Given the description of an element on the screen output the (x, y) to click on. 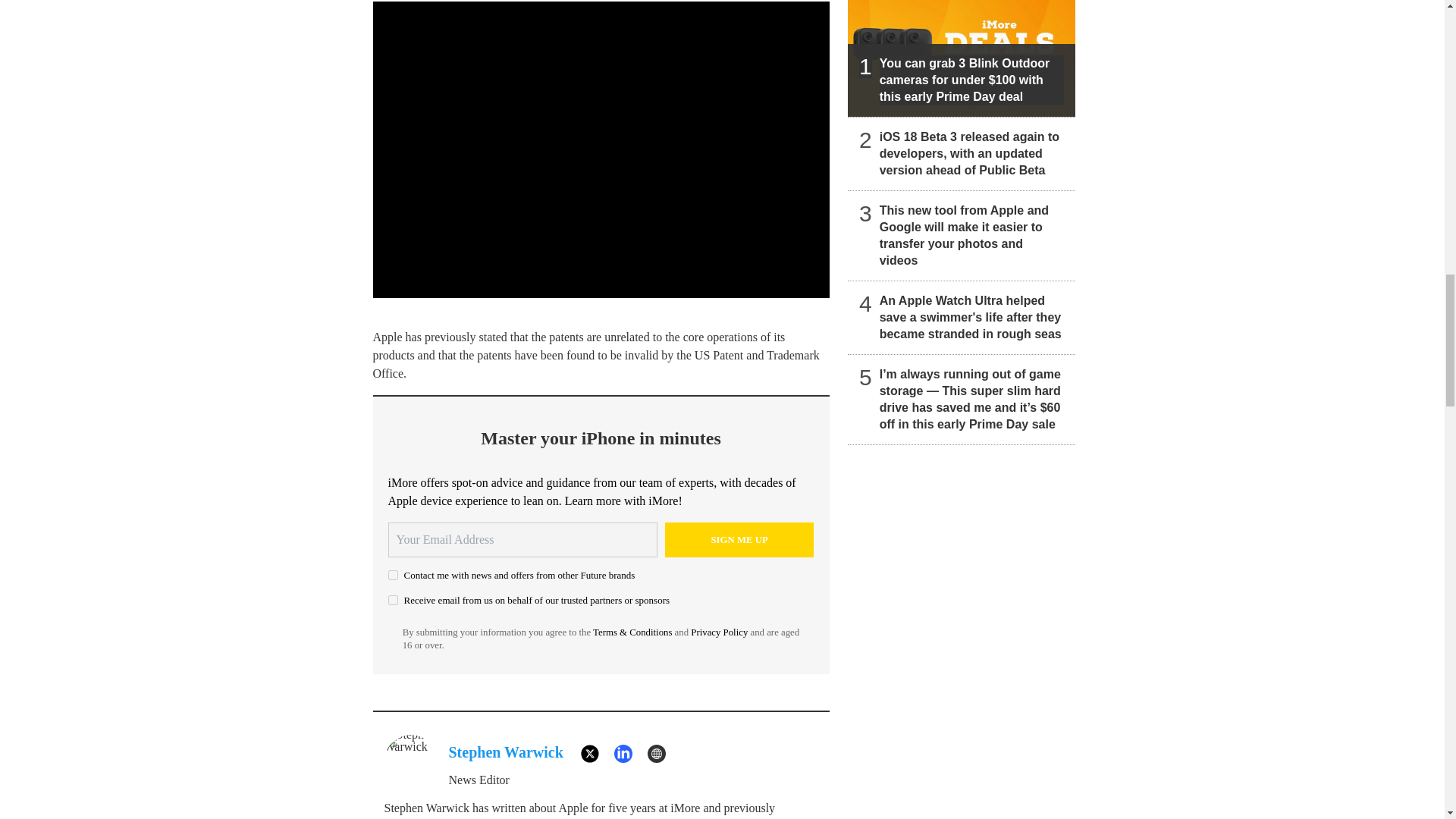
on (392, 574)
on (392, 600)
Sign me up (739, 539)
